Given the description of an element on the screen output the (x, y) to click on. 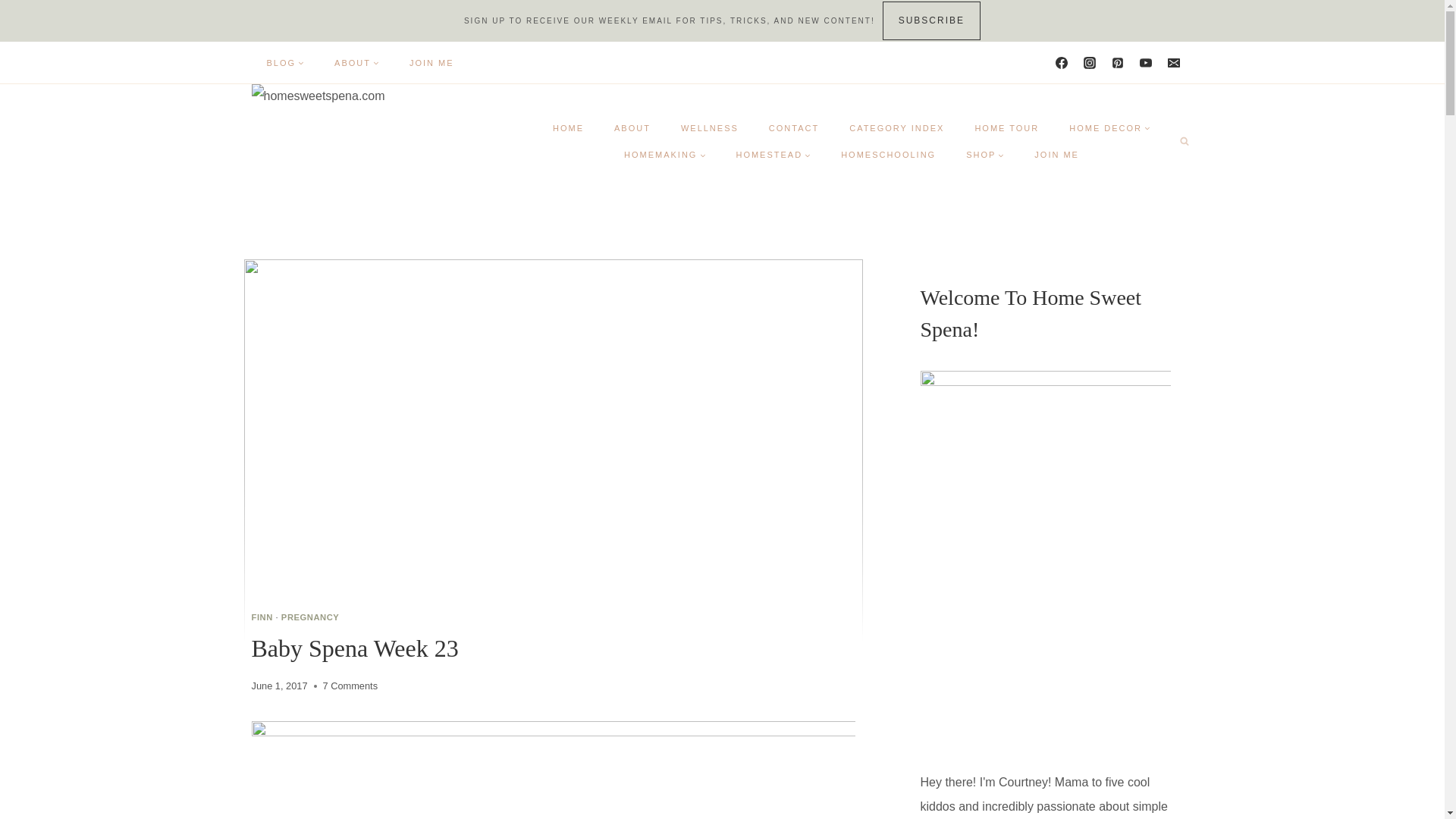
CONTACT (794, 127)
SUBSCRIBE (930, 20)
WELLNESS (709, 127)
HOMEMAKING (664, 153)
HOMESTEAD (772, 153)
ABOUT (631, 127)
ABOUT (356, 62)
JOIN ME (431, 62)
HOME (567, 127)
HOME TOUR (1006, 127)
CATEGORY INDEX (896, 127)
7 Comments (350, 686)
BLOG (285, 62)
HOME DECOR (1110, 127)
